Given the description of an element on the screen output the (x, y) to click on. 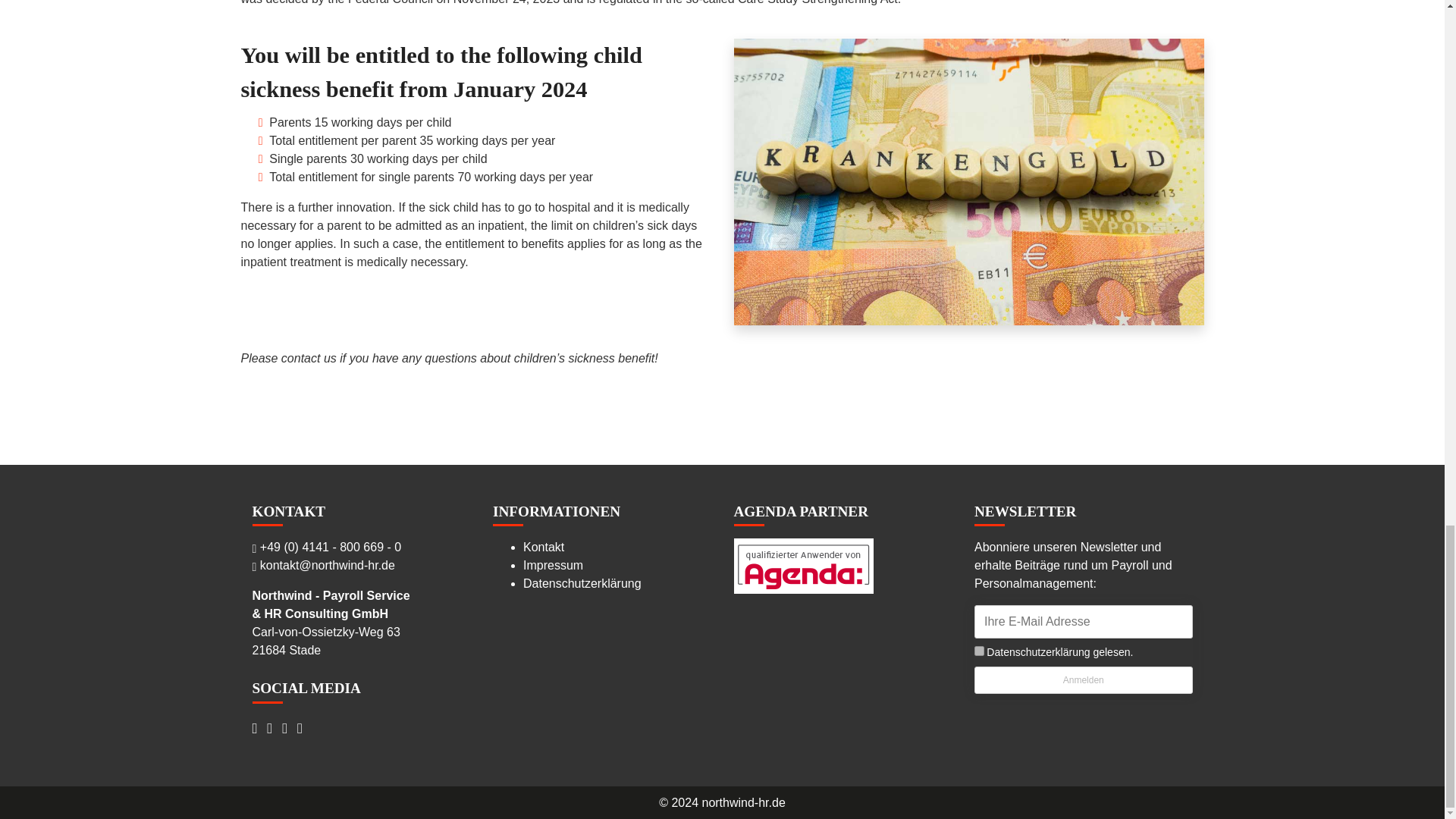
Kontakt (543, 546)
Anmelden (1083, 679)
Impressum (552, 564)
